Given the description of an element on the screen output the (x, y) to click on. 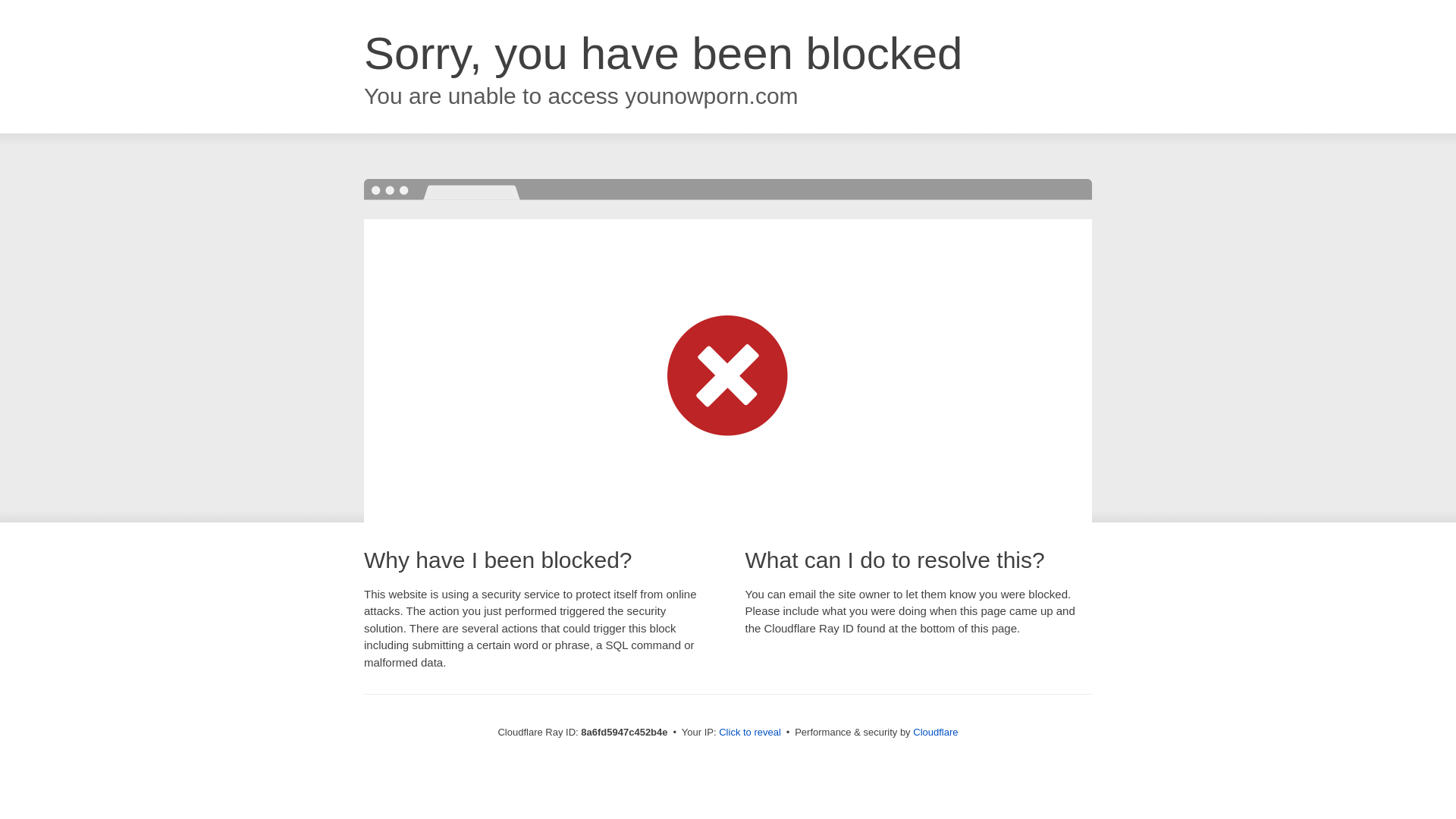
Cloudflare (935, 731)
Click to reveal (749, 732)
